Given the description of an element on the screen output the (x, y) to click on. 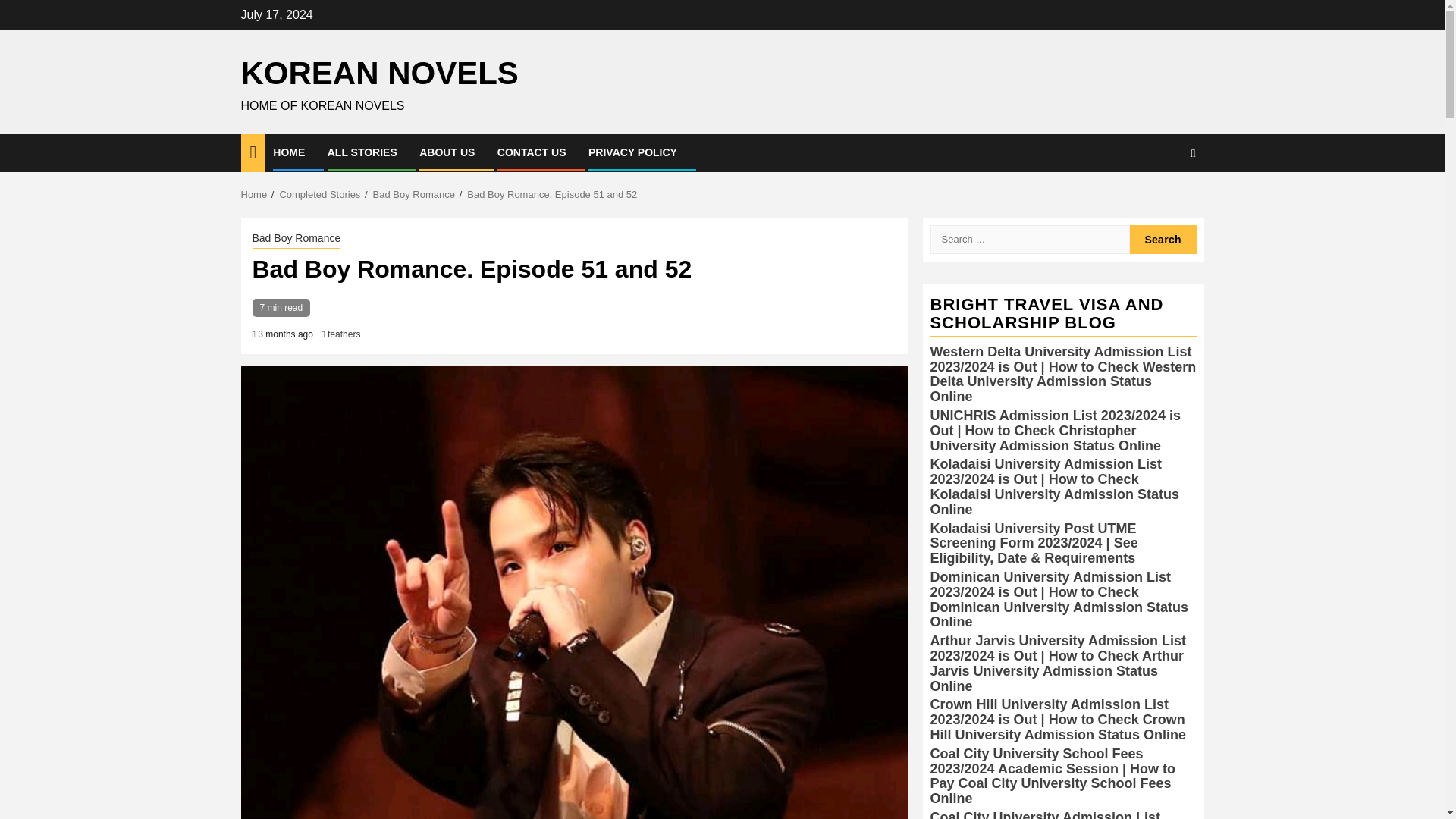
CONTACT US (531, 152)
Search (1162, 238)
Search (1163, 199)
PRIVACY POLICY (632, 152)
KOREAN NOVELS (379, 72)
ALL STORIES (362, 152)
HOME (288, 152)
feathers (343, 334)
Home (254, 194)
ABOUT US (446, 152)
Search (1162, 238)
Bad Boy Romance (413, 194)
Completed Stories (319, 194)
Bad Boy Romance. Episode 51 and 52 (552, 194)
Search (1162, 238)
